Given the description of an element on the screen output the (x, y) to click on. 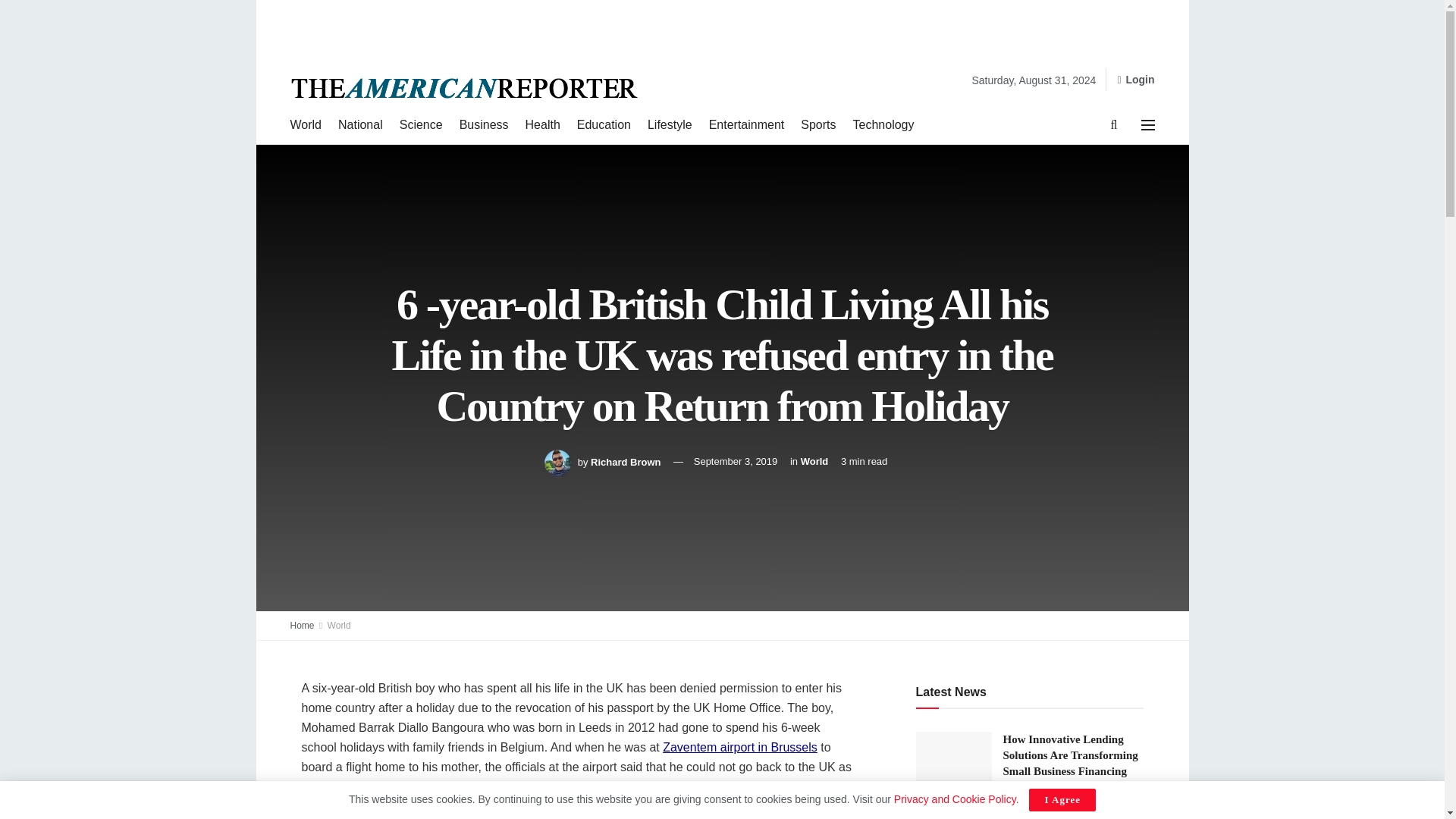
World (305, 124)
Sports (817, 124)
Technology (883, 124)
World (338, 624)
Lifestyle (670, 124)
Home (301, 624)
Zaventem airport in Brussels (739, 747)
National (359, 124)
World (814, 461)
Entertainment (746, 124)
